Given the description of an element on the screen output the (x, y) to click on. 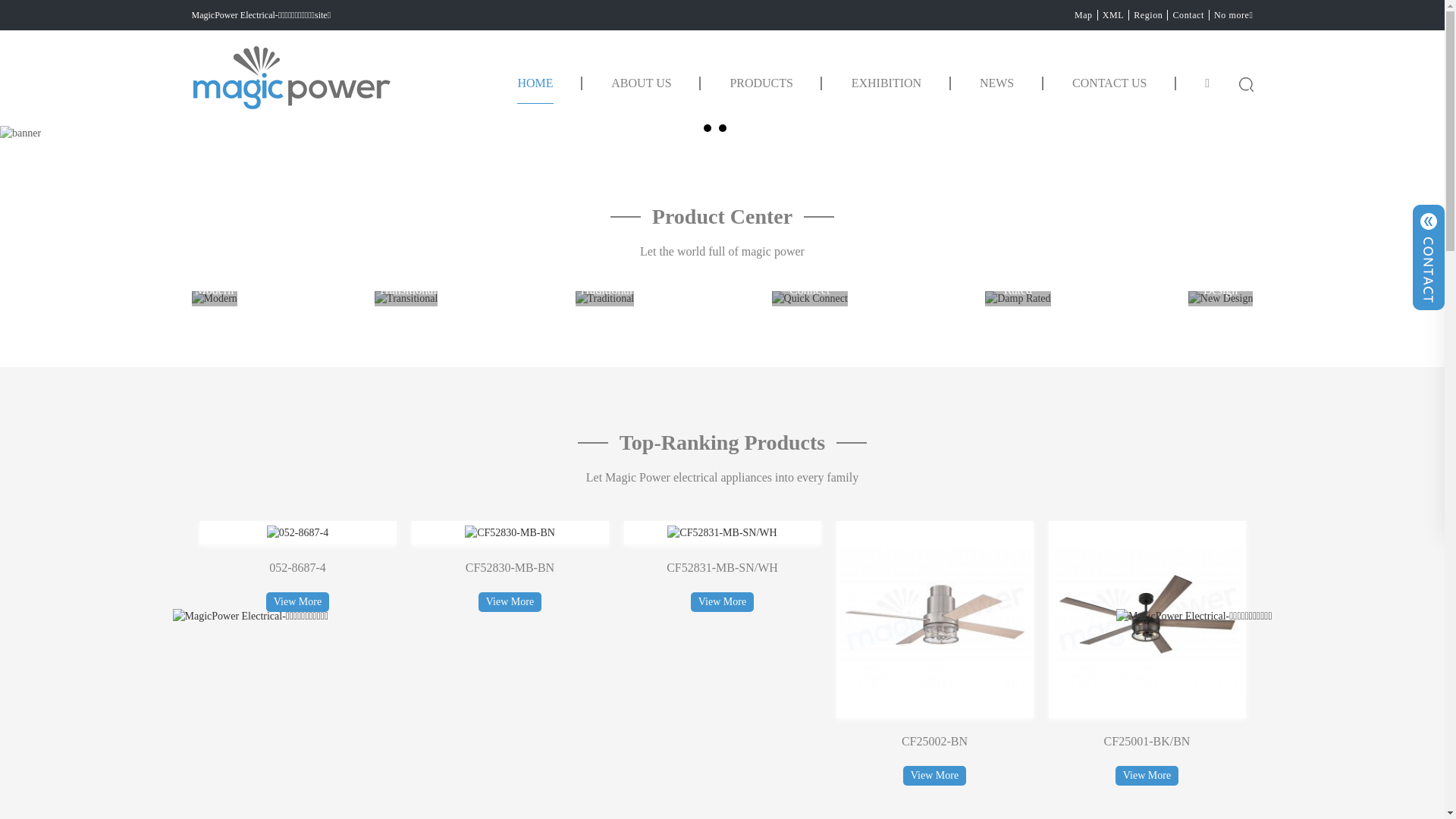
NEWS Element type: text (996, 89)
Transitional Element type: text (405, 299)
Map Element type: text (1084, 14)
XML Element type: text (1113, 14)
New Design Element type: text (1220, 299)
PRODUCTS Element type: text (761, 89)
052-8687-4
View More Element type: text (509, 565)
Region Element type: text (1148, 14)
Damp Rated Element type: text (1017, 299)
HOME Element type: text (534, 89)
CF52831-MB-SN/WH
View More Element type: text (933, 565)
CF25002-BN
View More Element type: text (1146, 652)
Contact Element type: text (1188, 14)
ABOUT US Element type: text (641, 89)
CF52840-MB-BN
View More Element type: text (296, 565)
EXHIBITION Element type: text (886, 89)
CF52830-MB-BN
View More Element type: text (721, 565)
CONTACT US Element type: text (1109, 89)
Traditional Element type: text (604, 299)
Modern Element type: text (213, 299)
Quick Connect Element type: text (809, 299)
banner Element type: hover (722, 133)
